Given the description of an element on the screen output the (x, y) to click on. 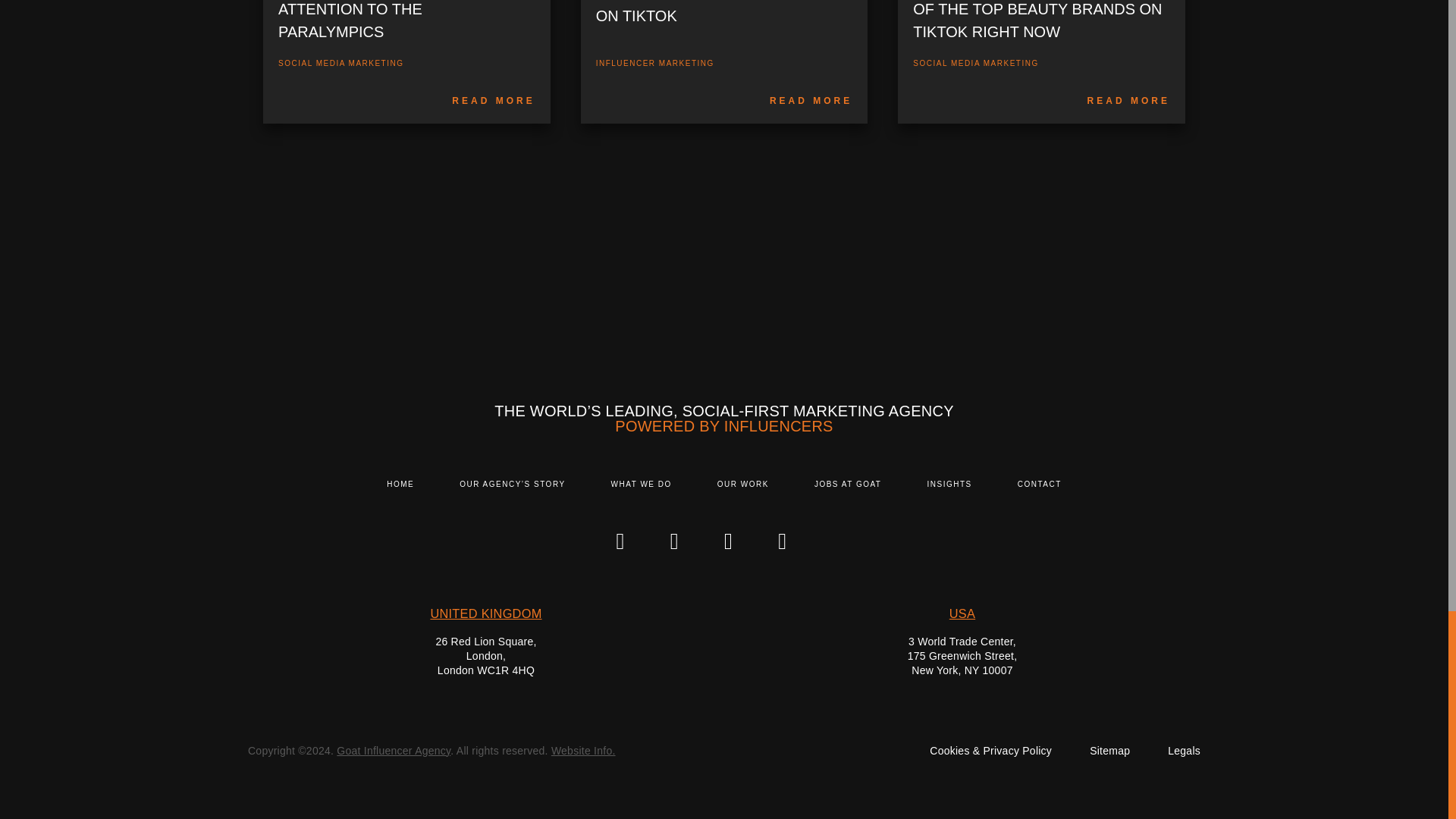
UNITED KINGDOM (485, 612)
CONTACT (1039, 483)
INFLUENCER MARKETING (654, 62)
10 Mental Health Influencers on TikTok (810, 100)
SOCIAL MEDIA MARKETING (340, 62)
10 MENTAL HEALTH INFLUENCERS ON TIKTOK (724, 21)
JOBS AT GOAT (847, 483)
INSIGHTS (948, 483)
